Given the description of an element on the screen output the (x, y) to click on. 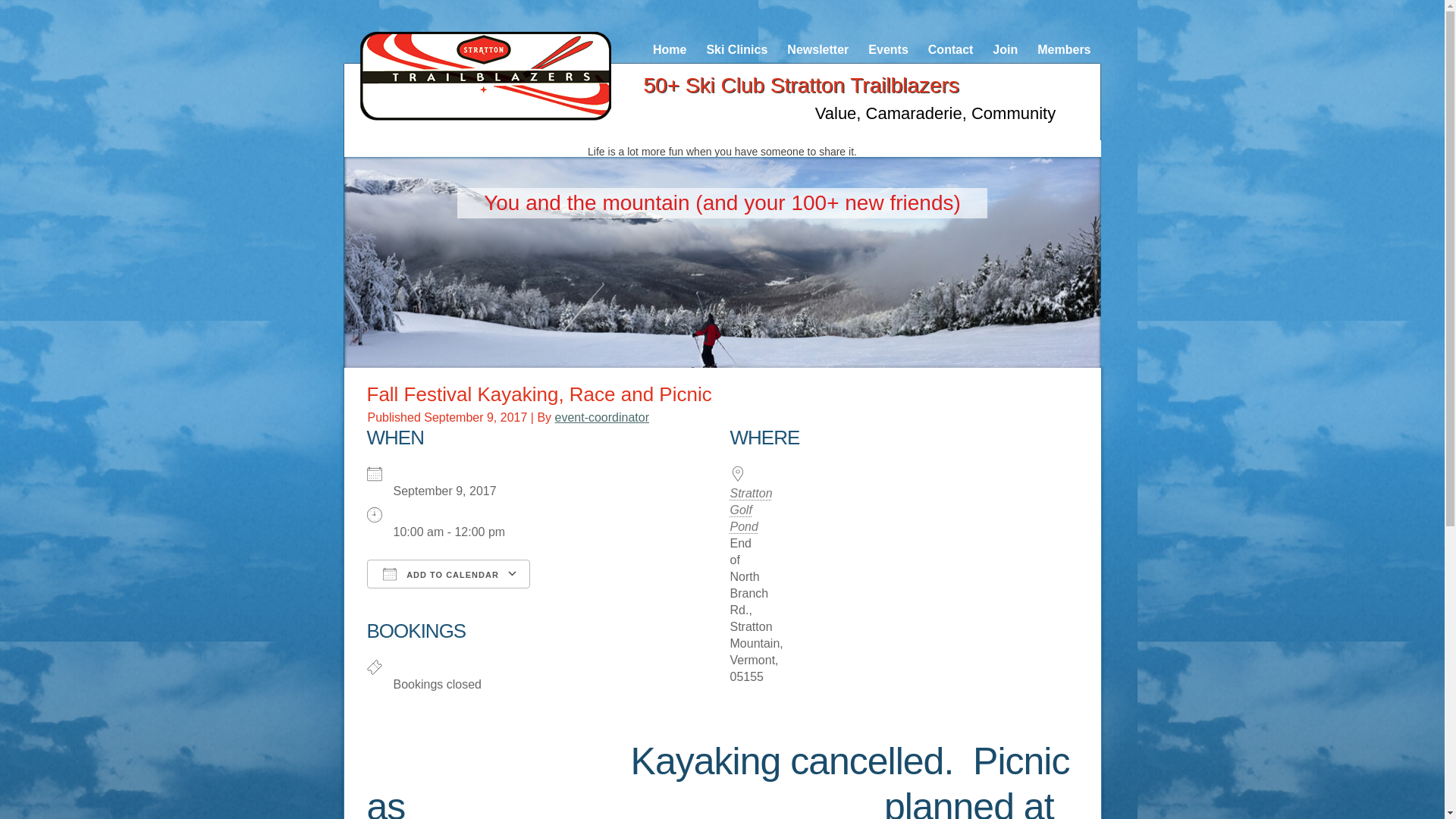
Contact (950, 49)
Home (669, 49)
Contact (950, 49)
Download ICS (447, 619)
Events (887, 49)
Join (1005, 49)
Members (1063, 49)
ADD TO CALENDAR (447, 573)
Home (669, 49)
Stratton Golf Pond (750, 509)
View all posts by event-coordinator (601, 417)
Join (1005, 49)
Events (887, 49)
Newsletter (818, 49)
10:00 am (475, 417)
